Given the description of an element on the screen output the (x, y) to click on. 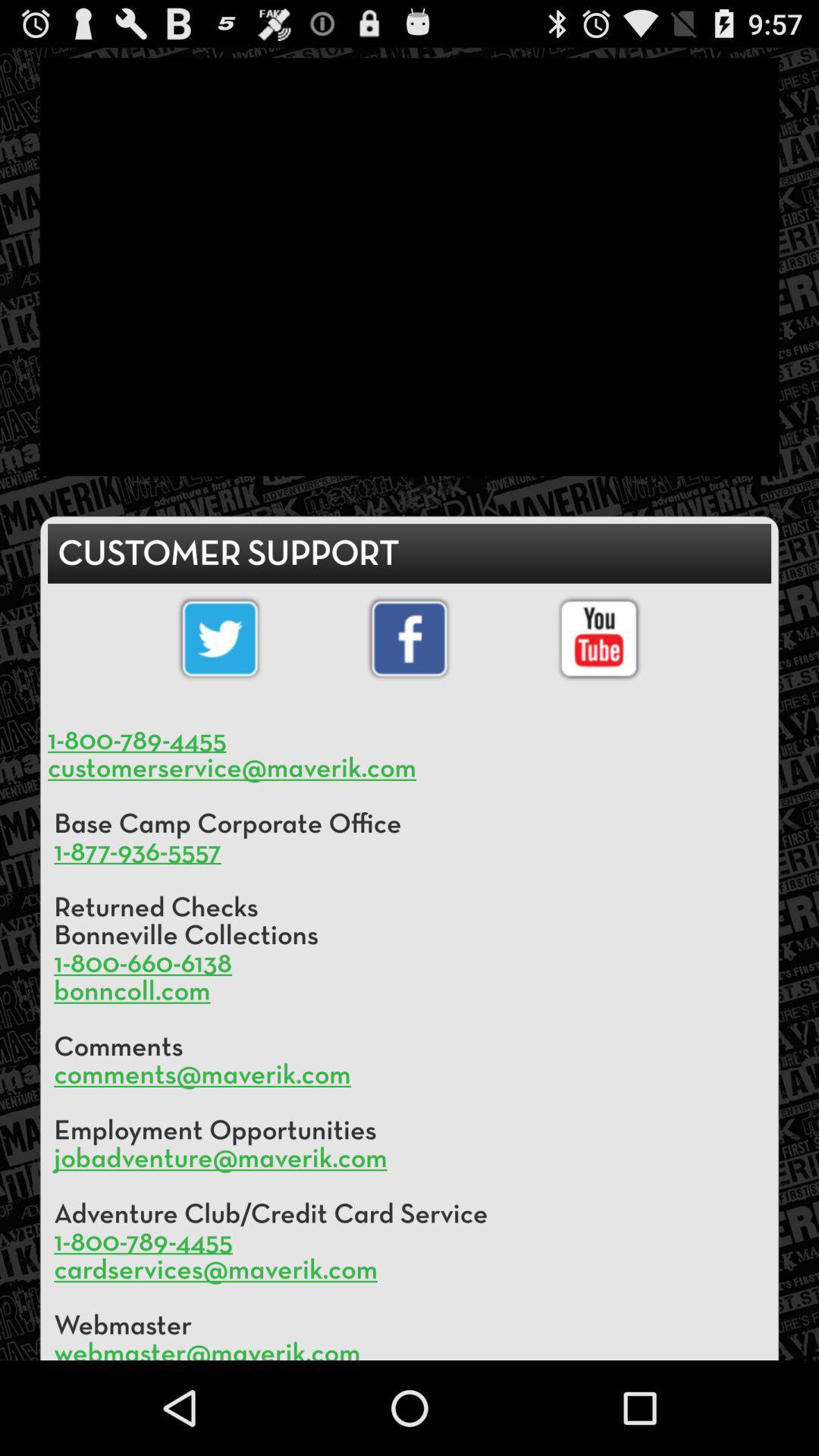
twitter (220, 638)
